Given the description of an element on the screen output the (x, y) to click on. 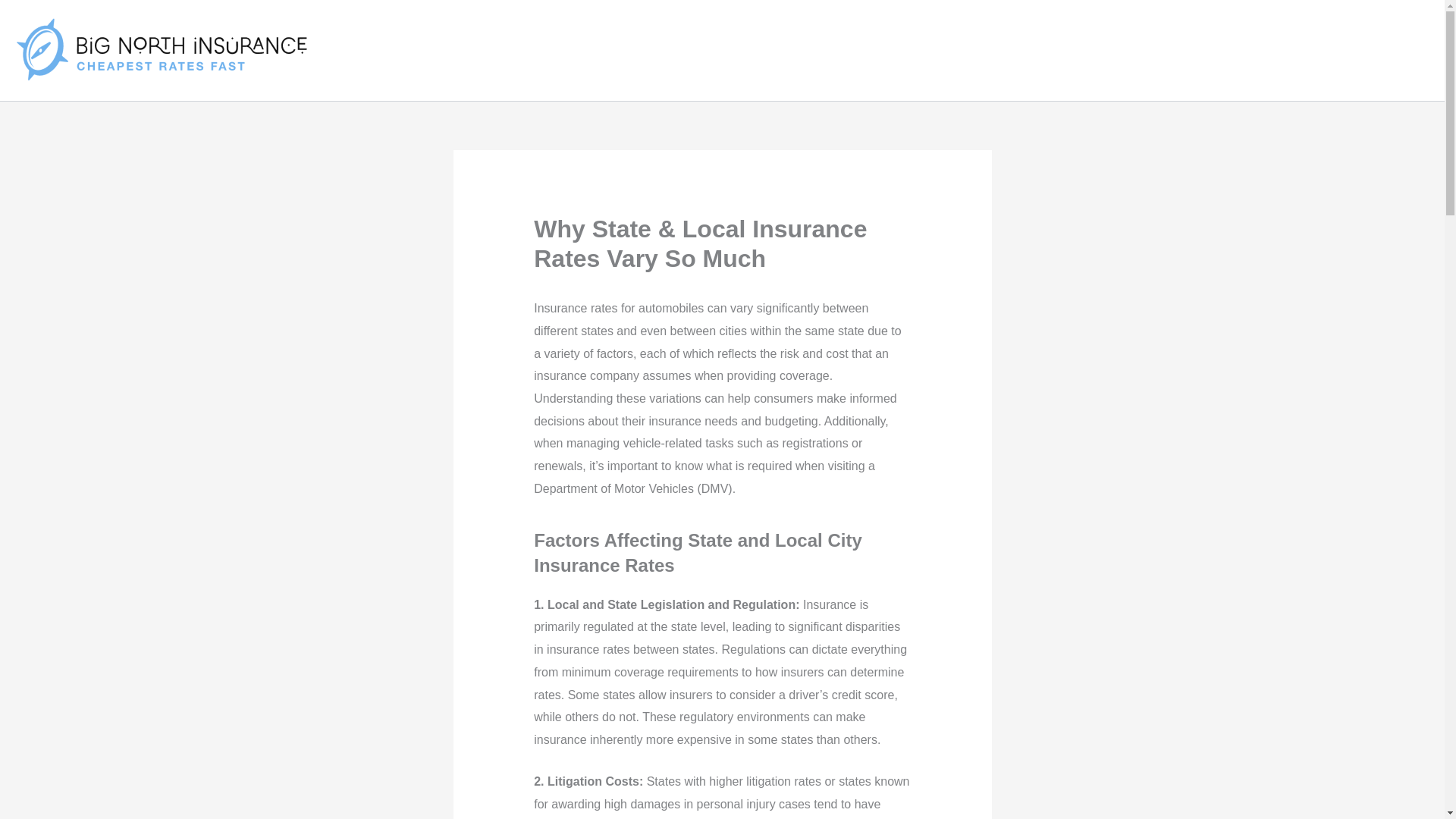
Big North Insurance (344, 49)
